Given the description of an element on the screen output the (x, y) to click on. 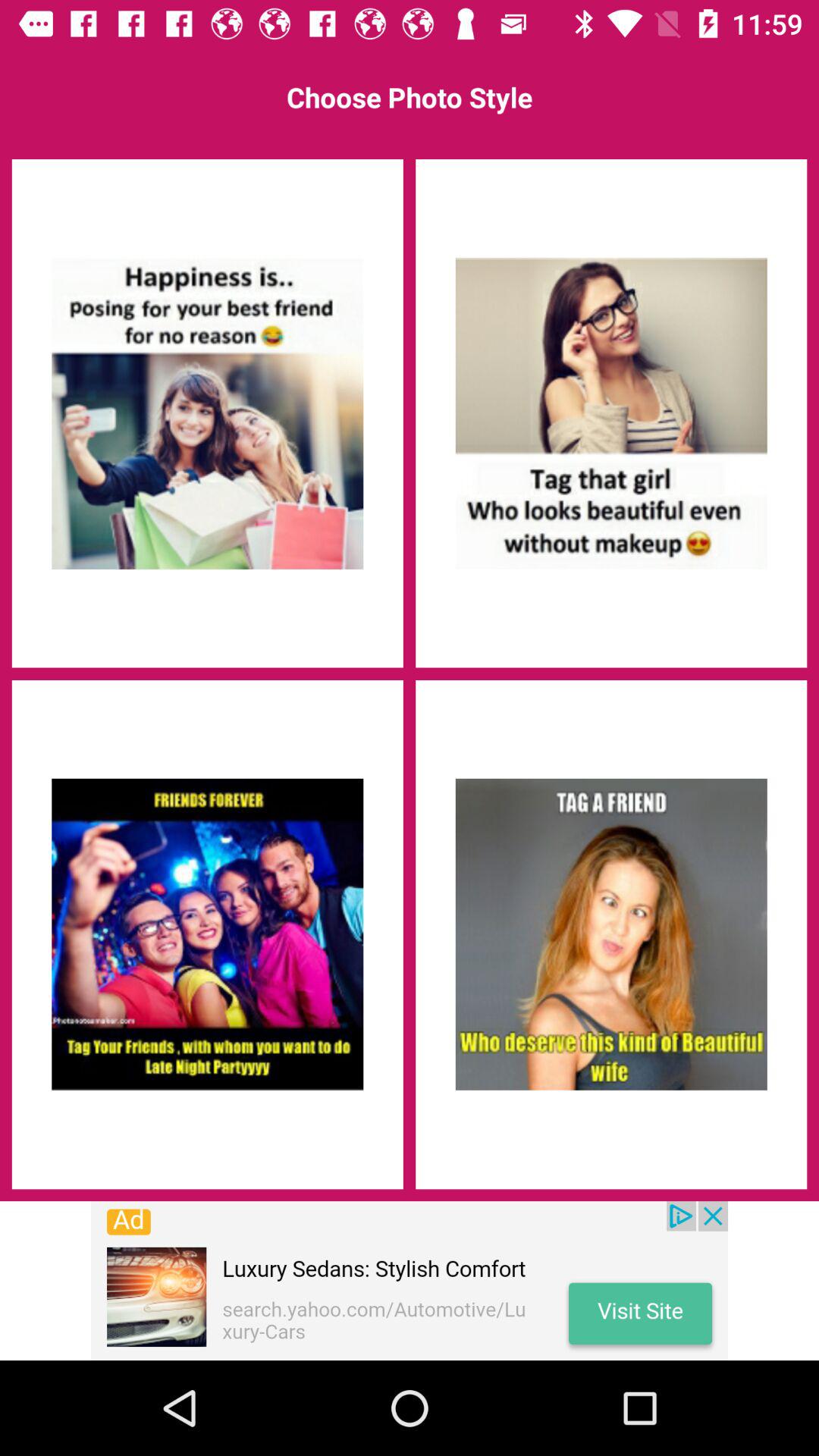
select black borders photo style (207, 934)
